Given the description of an element on the screen output the (x, y) to click on. 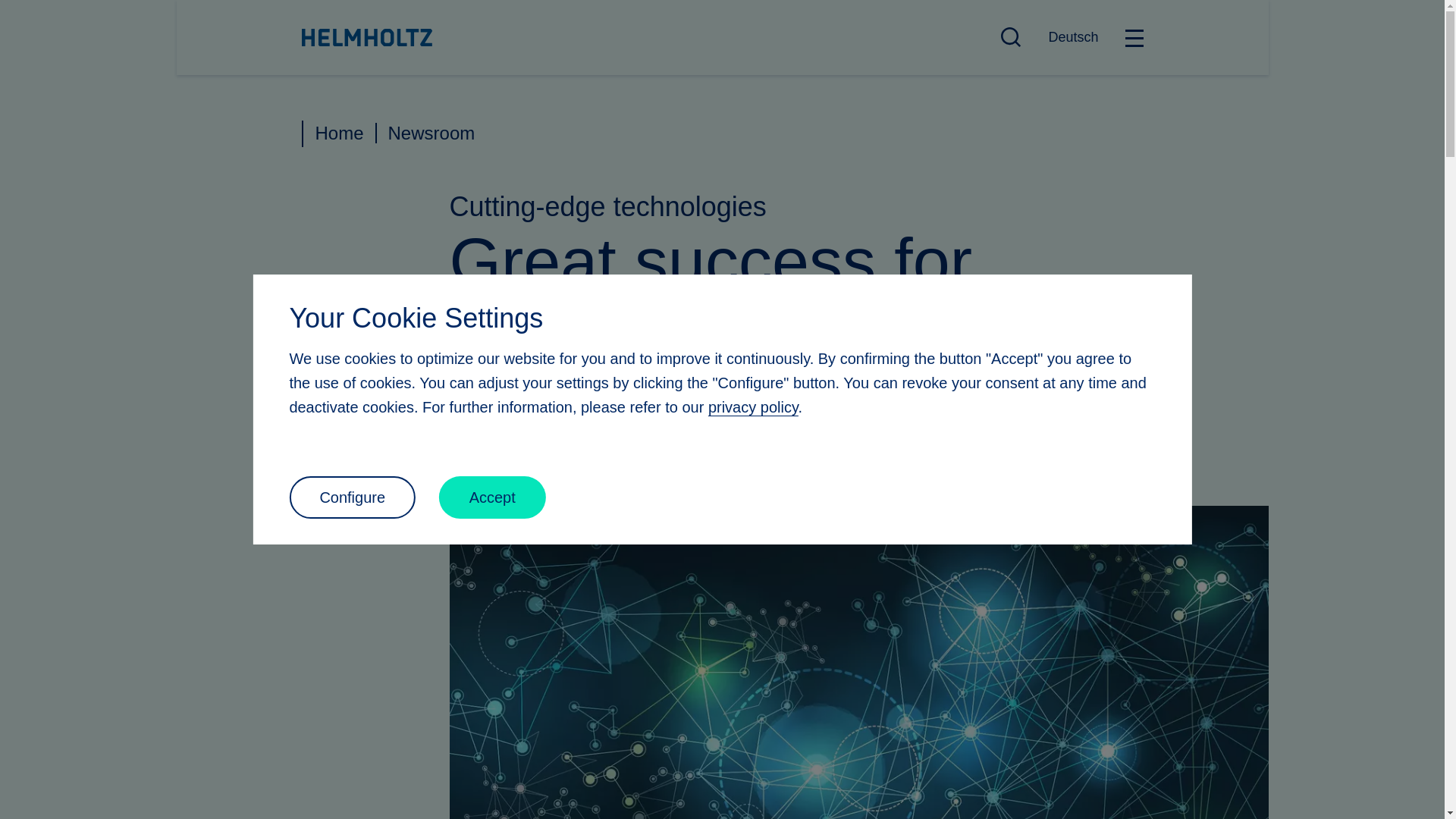
Helmholtz - Association of German Research Centres (366, 37)
